Given the description of an element on the screen output the (x, y) to click on. 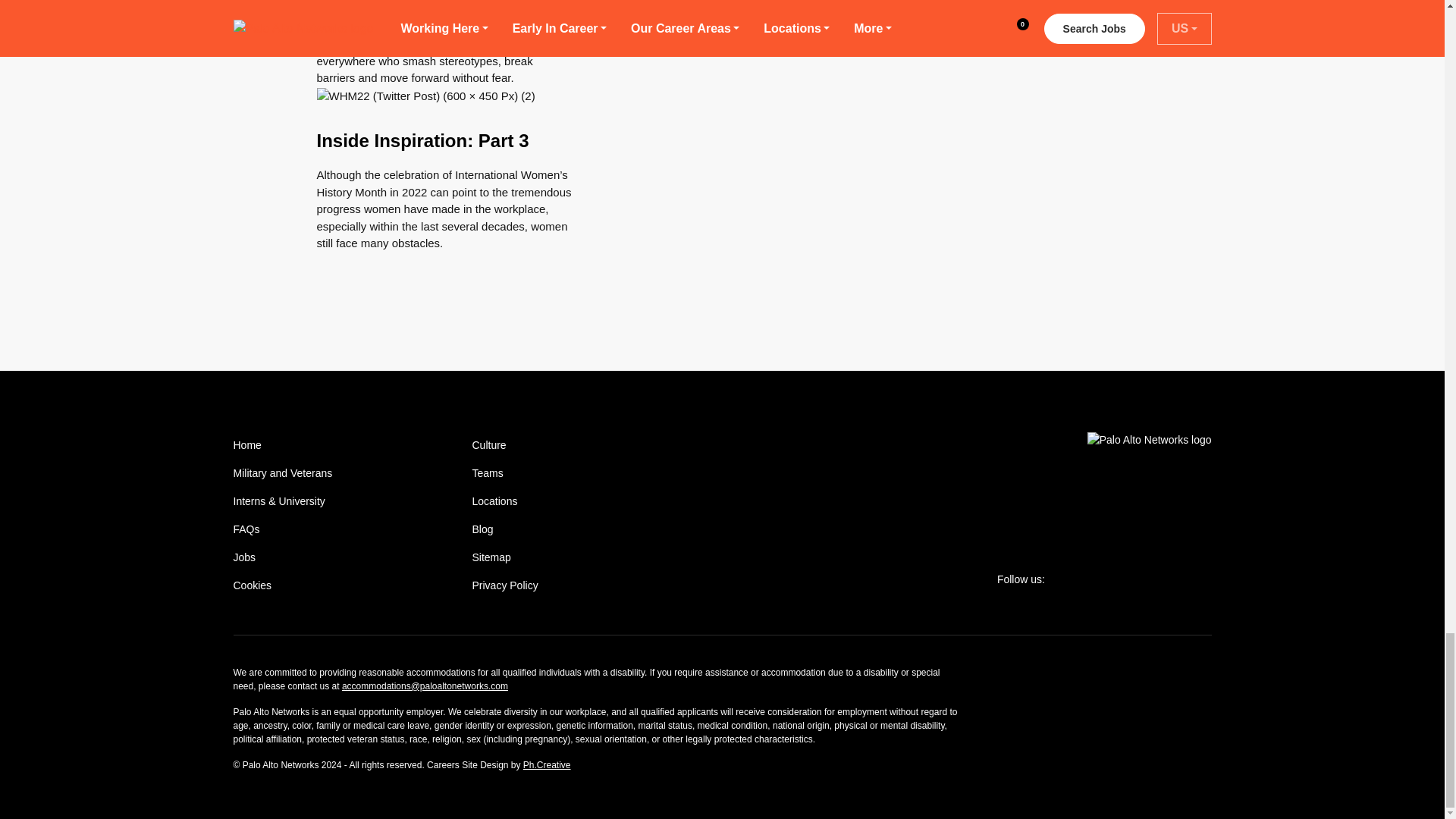
YouTube (1168, 579)
Twitter (1064, 579)
Instagram (1203, 579)
LinkedIn (1133, 579)
Facebook (1099, 579)
